Given the description of an element on the screen output the (x, y) to click on. 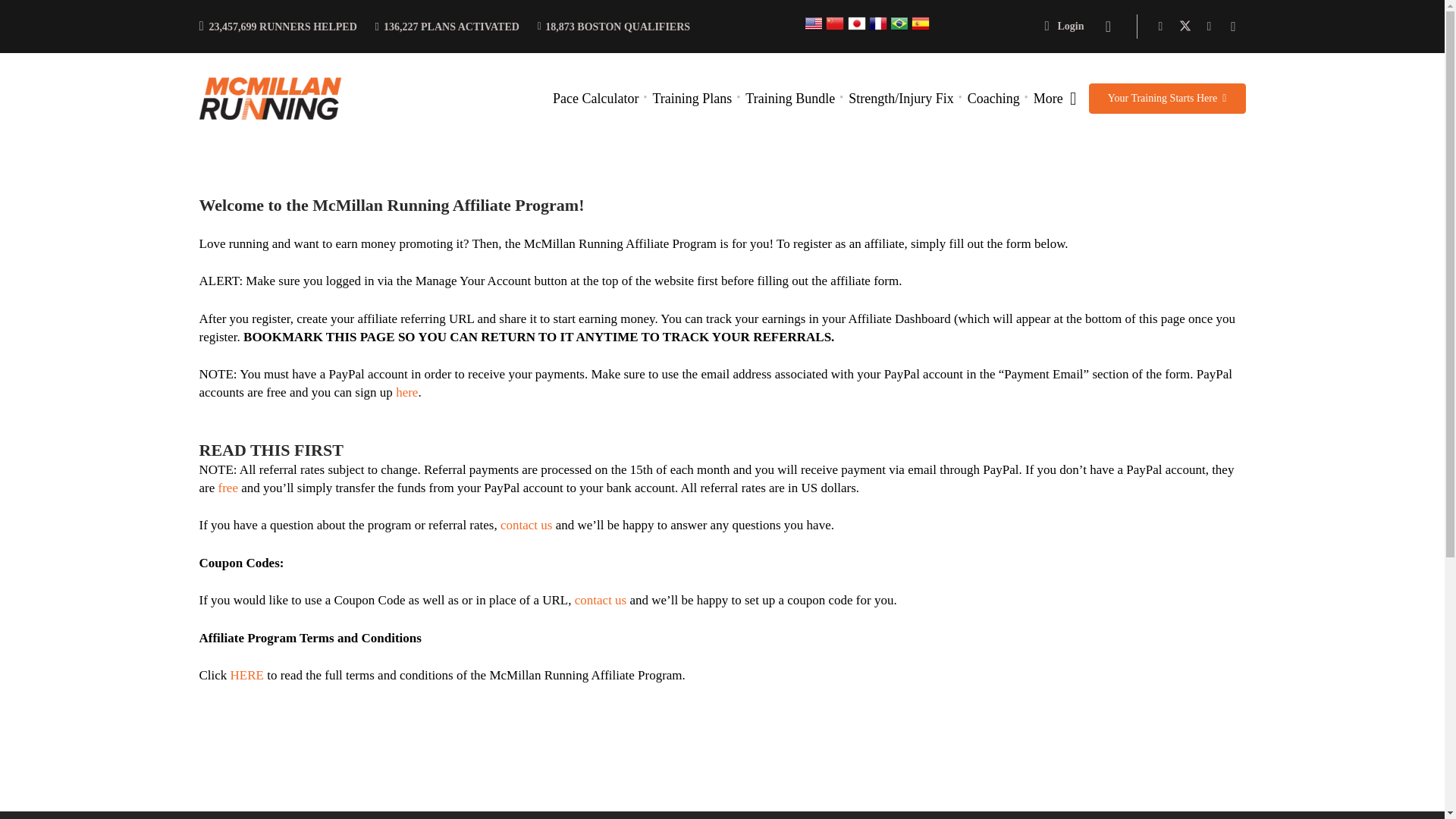
contact us (600, 599)
English (813, 28)
Spanish (920, 28)
Facebook (1160, 26)
Coaching (993, 98)
free (228, 487)
YouTube (1208, 26)
Japanese (856, 28)
Portuguese (898, 28)
Pace Calculator (595, 98)
